Given the description of an element on the screen output the (x, y) to click on. 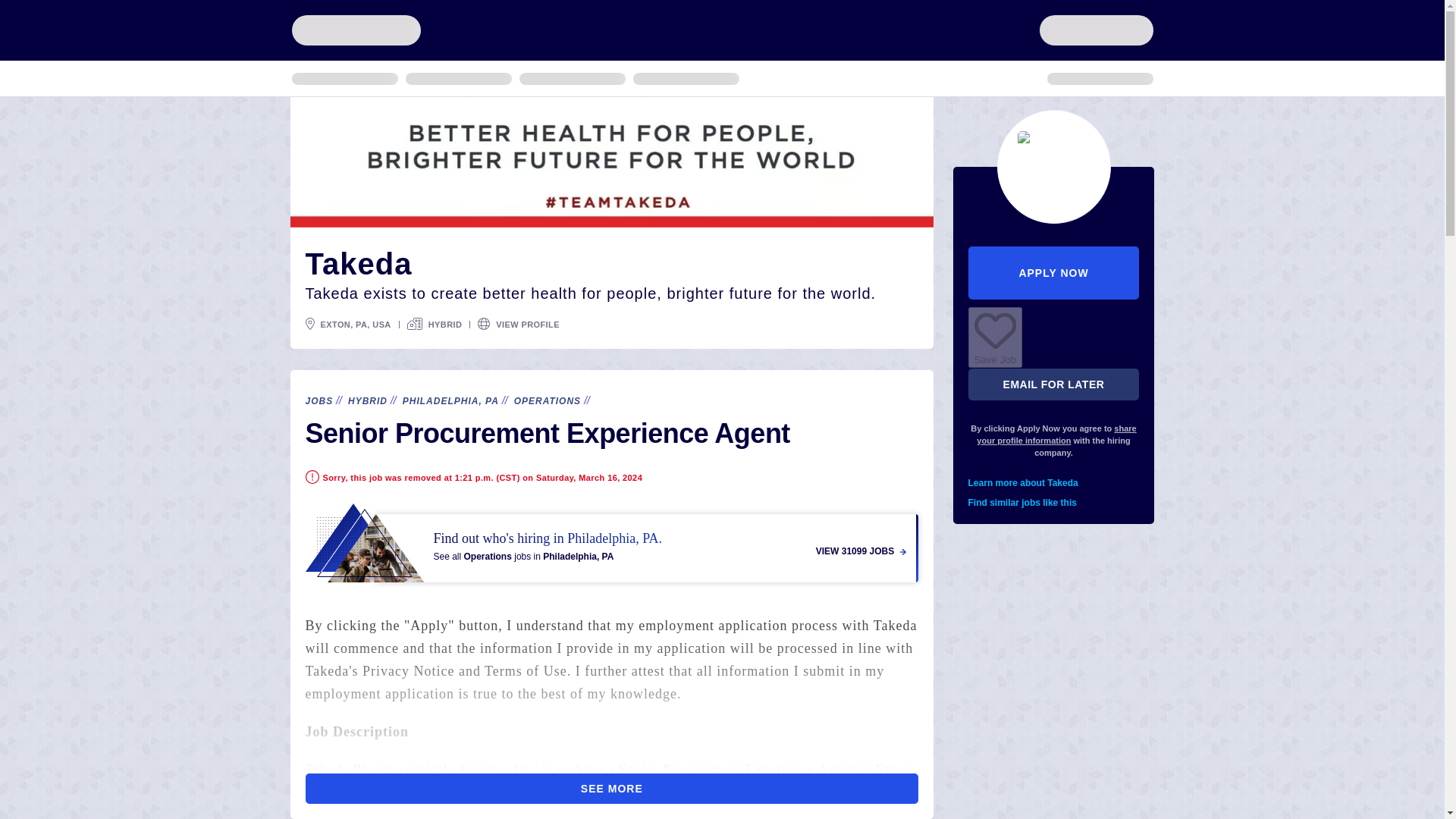
PHILADELPHIA, PA (451, 400)
share your profile information (1055, 434)
JOBS (318, 400)
Learn more about Takeda (1054, 483)
VIEW 31099 JOBS (860, 551)
OPERATIONS (546, 400)
Find similar jobs like this (1054, 503)
VIEW PROFILE (527, 325)
View 31099 Jobs (611, 542)
HYBRID (367, 400)
